Given the description of an element on the screen output the (x, y) to click on. 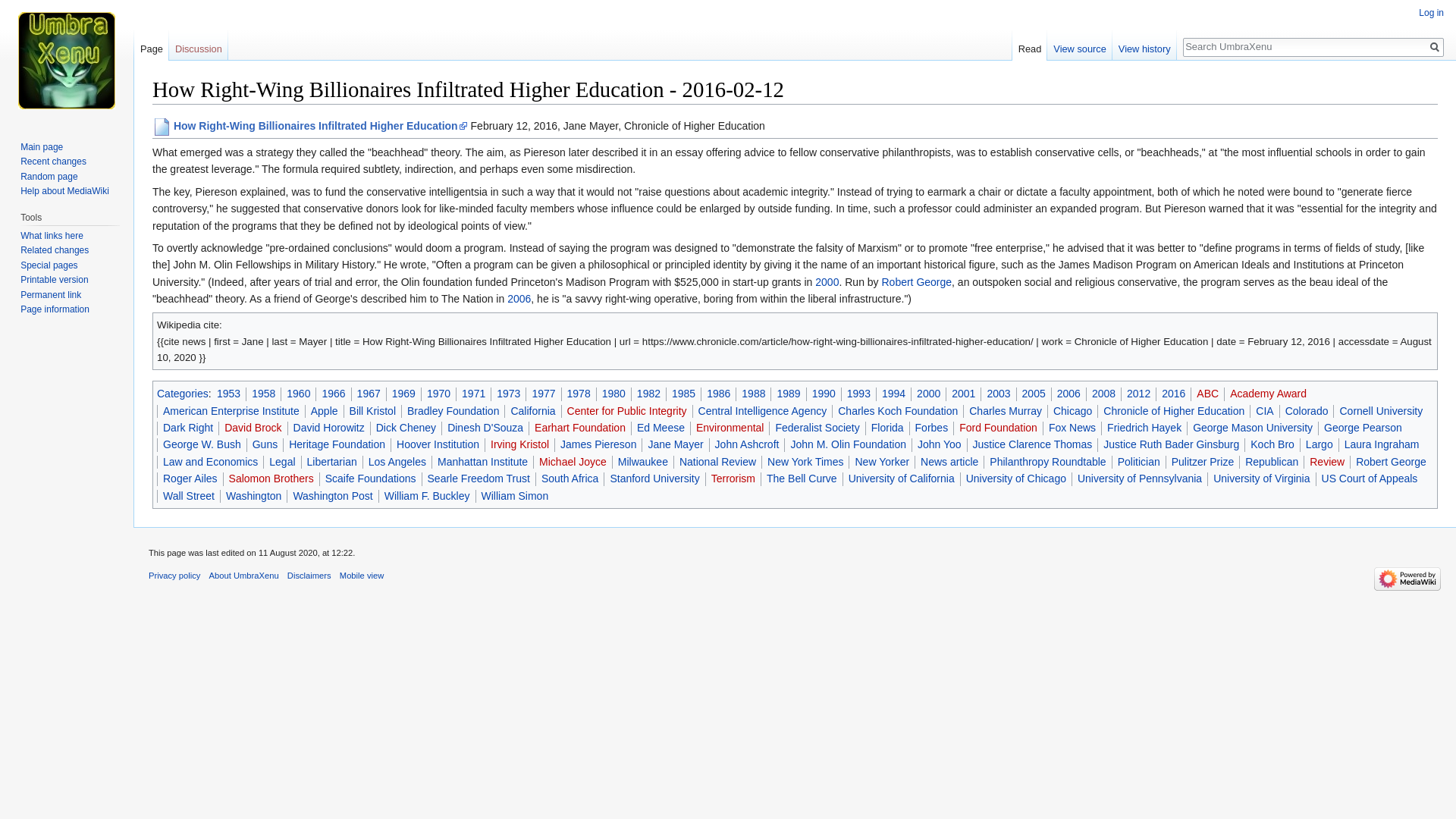
Category:2000 (826, 282)
2012 (1138, 393)
How Right-Wing Billionaires Infiltrated Higher Education (320, 125)
ABC (1207, 393)
Category:1958 (263, 393)
1973 (507, 393)
Category:1982 (649, 393)
Categories (182, 393)
Special:Categories (182, 393)
1977 (542, 393)
1960 (298, 393)
1988 (753, 393)
Academy Award (1268, 393)
Category:1971 (472, 393)
1953 (228, 393)
